Given the description of an element on the screen output the (x, y) to click on. 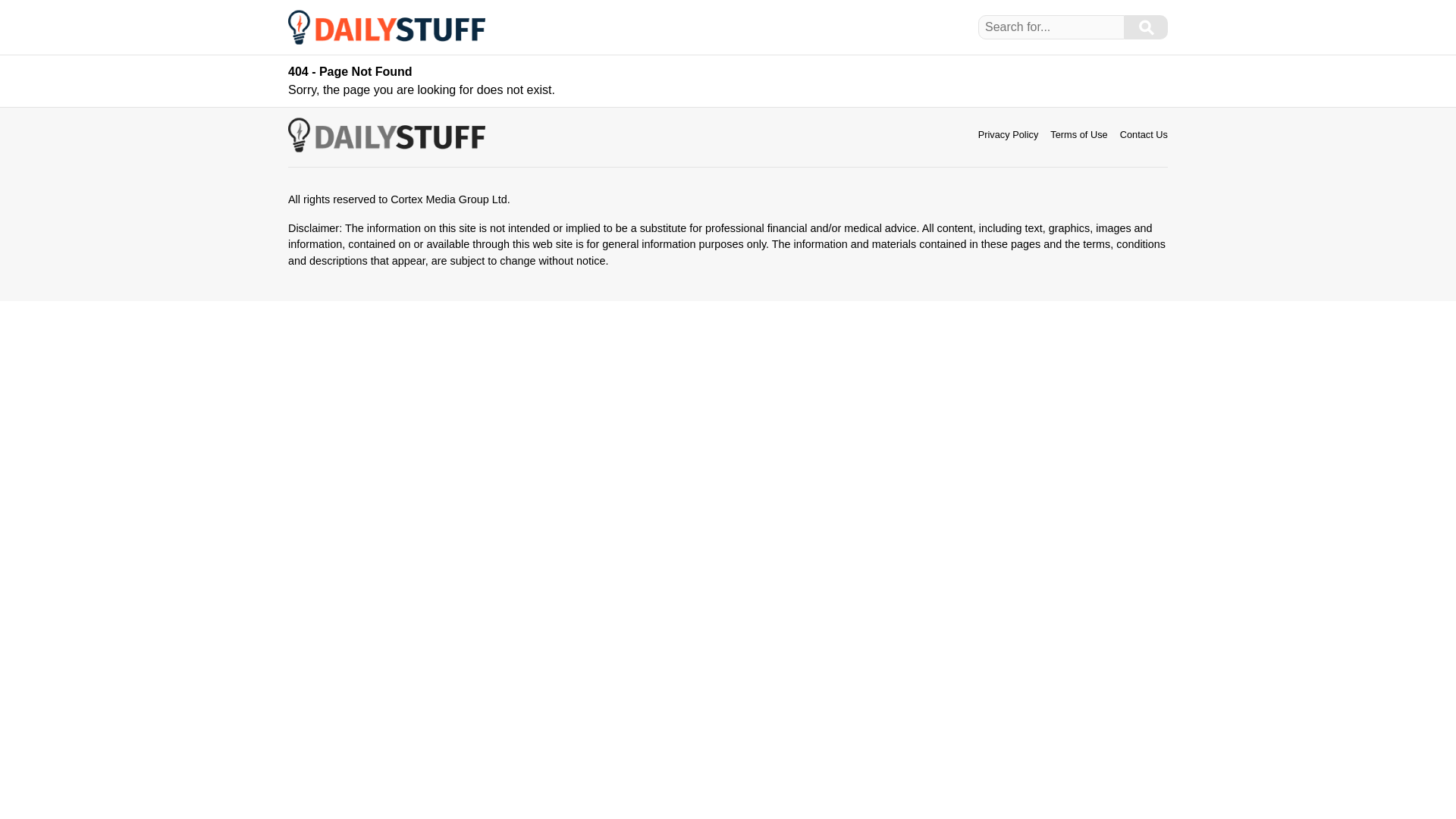
Contact Us (1143, 134)
Privacy Policy (1008, 134)
Terms of Use (1077, 134)
